Given the description of an element on the screen output the (x, y) to click on. 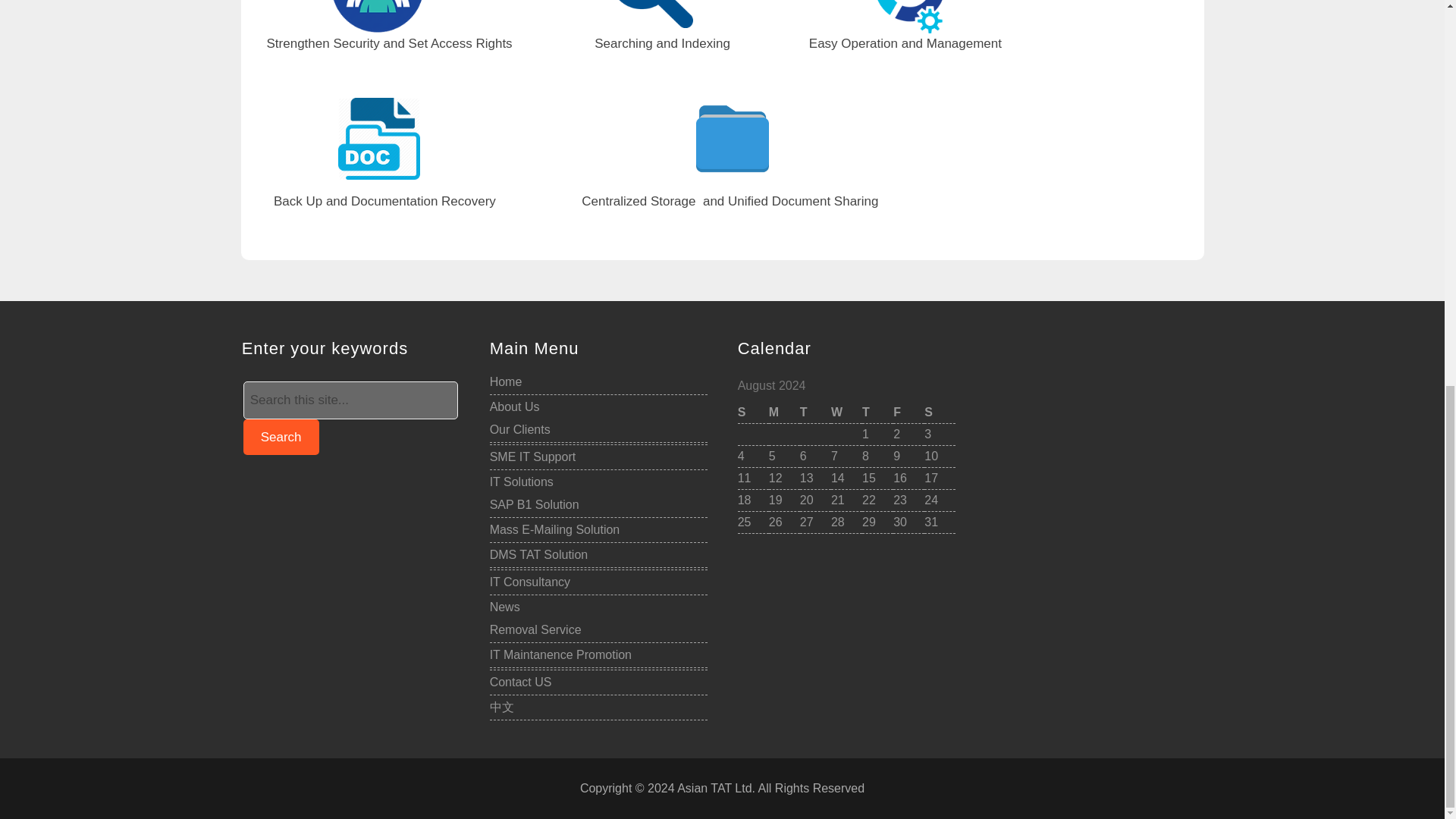
Search (280, 437)
IT Maintanence Promotion (560, 654)
SAP B1 Solution (534, 504)
Home (505, 381)
Removal Service (534, 629)
Sunday (753, 413)
Mass E-Mailing Solution (554, 529)
Wednesday (846, 413)
Contact US (520, 681)
IT Solutions (521, 481)
